Given the description of an element on the screen output the (x, y) to click on. 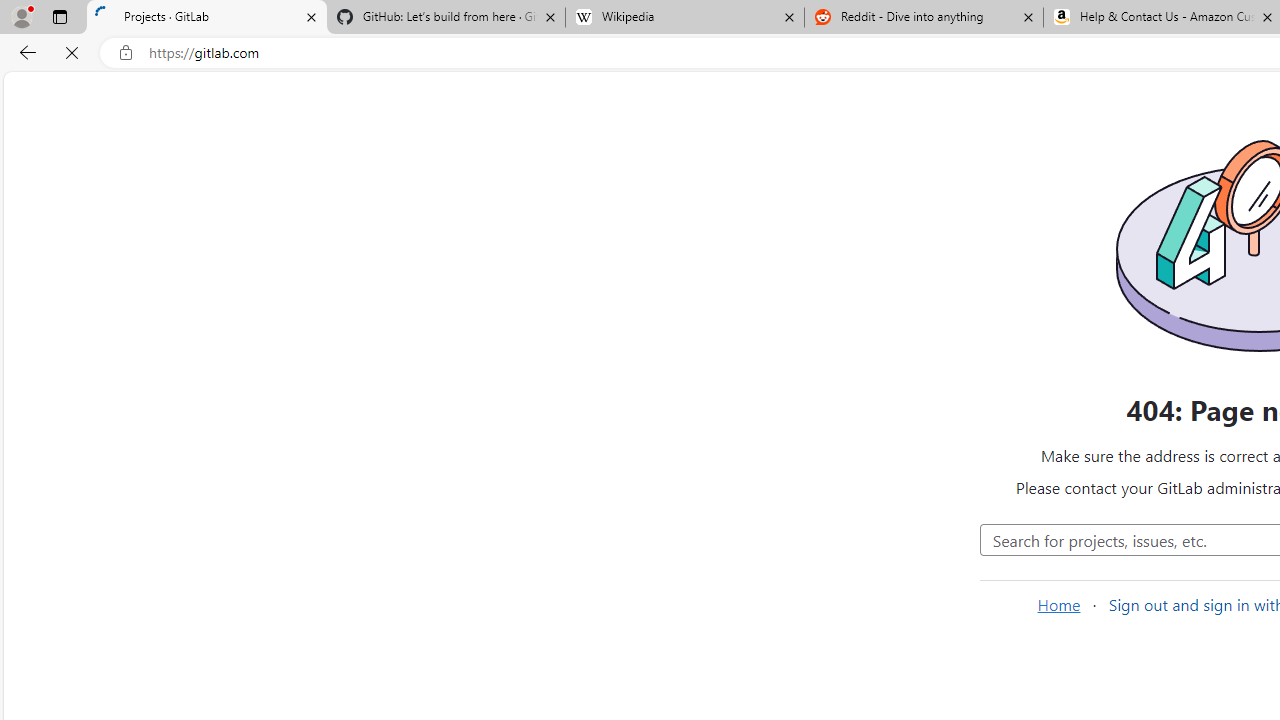
Issues (130, 325)
Groups (130, 291)
Class: s16 (868, 519)
Milestones (130, 429)
Starred 0 (899, 389)
To-Do list 0 (212, 136)
Assigned issues 0 (50, 136)
Your work (312, 95)
Security (130, 633)
Milestones (130, 429)
Activity (130, 497)
Toggle history (807, 445)
